Given the description of an element on the screen output the (x, y) to click on. 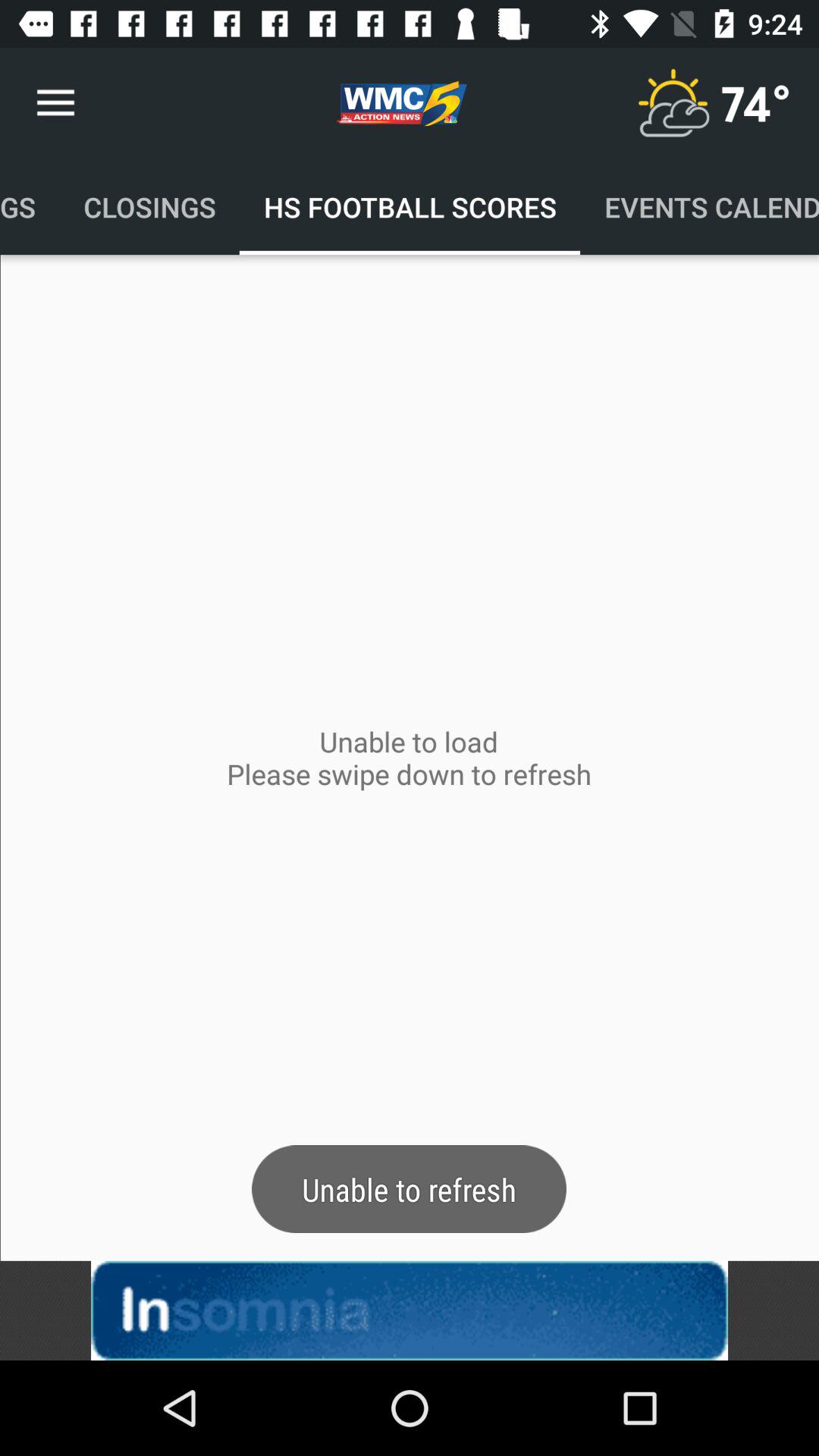
text page (409, 1310)
